Given the description of an element on the screen output the (x, y) to click on. 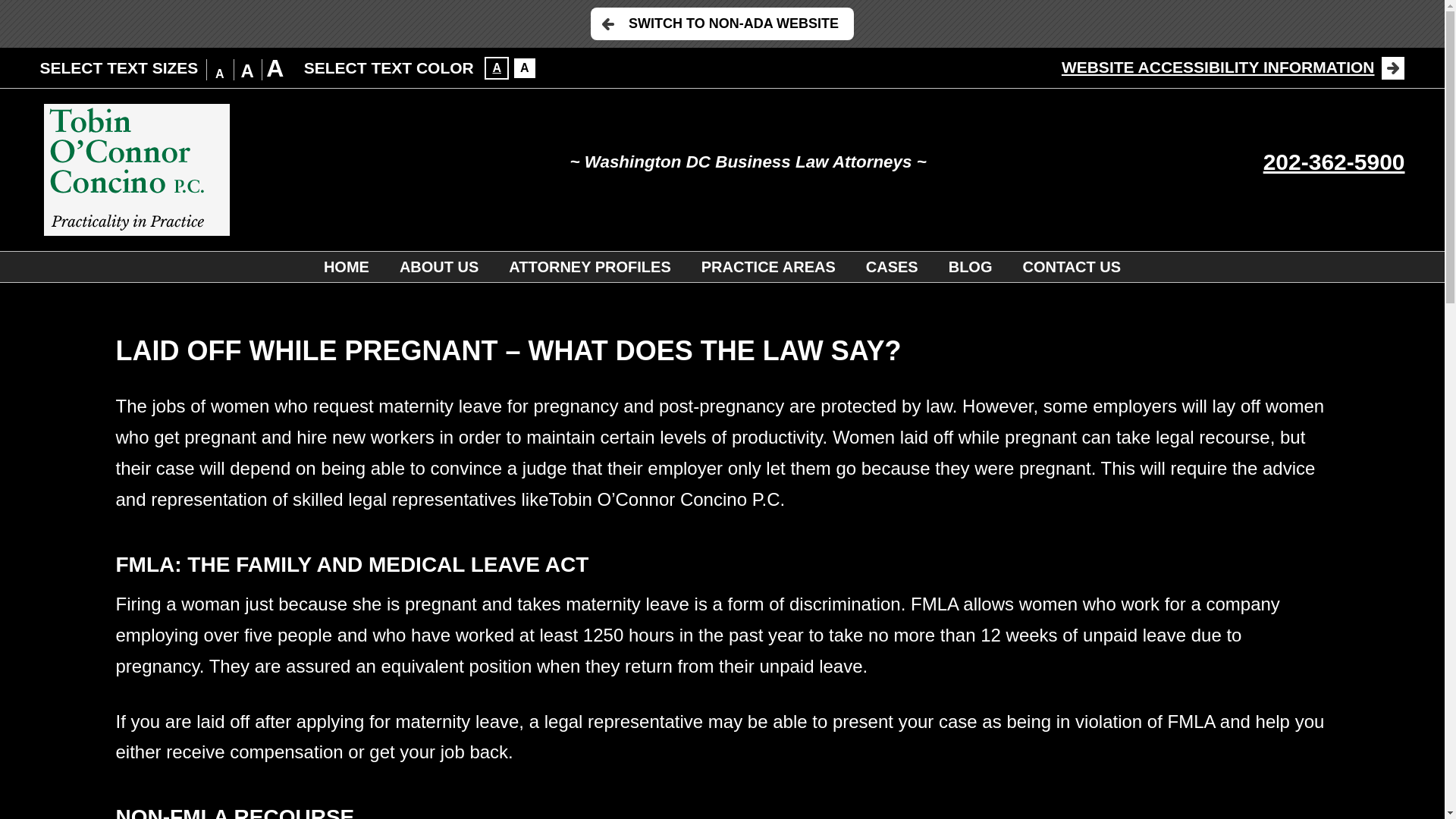
ABOUT US (438, 266)
Click to view external accessibility article (1233, 67)
ATTORNEY PROFILES (589, 266)
A (496, 67)
SWITCH TO NON-ADA WEBSITE (722, 23)
Invert Colors (524, 67)
A (524, 67)
202-362-5900 (1334, 161)
WEBSITE ACCESSIBILITY INFORMATION (1233, 67)
Invert Colors (496, 67)
